Given the description of an element on the screen output the (x, y) to click on. 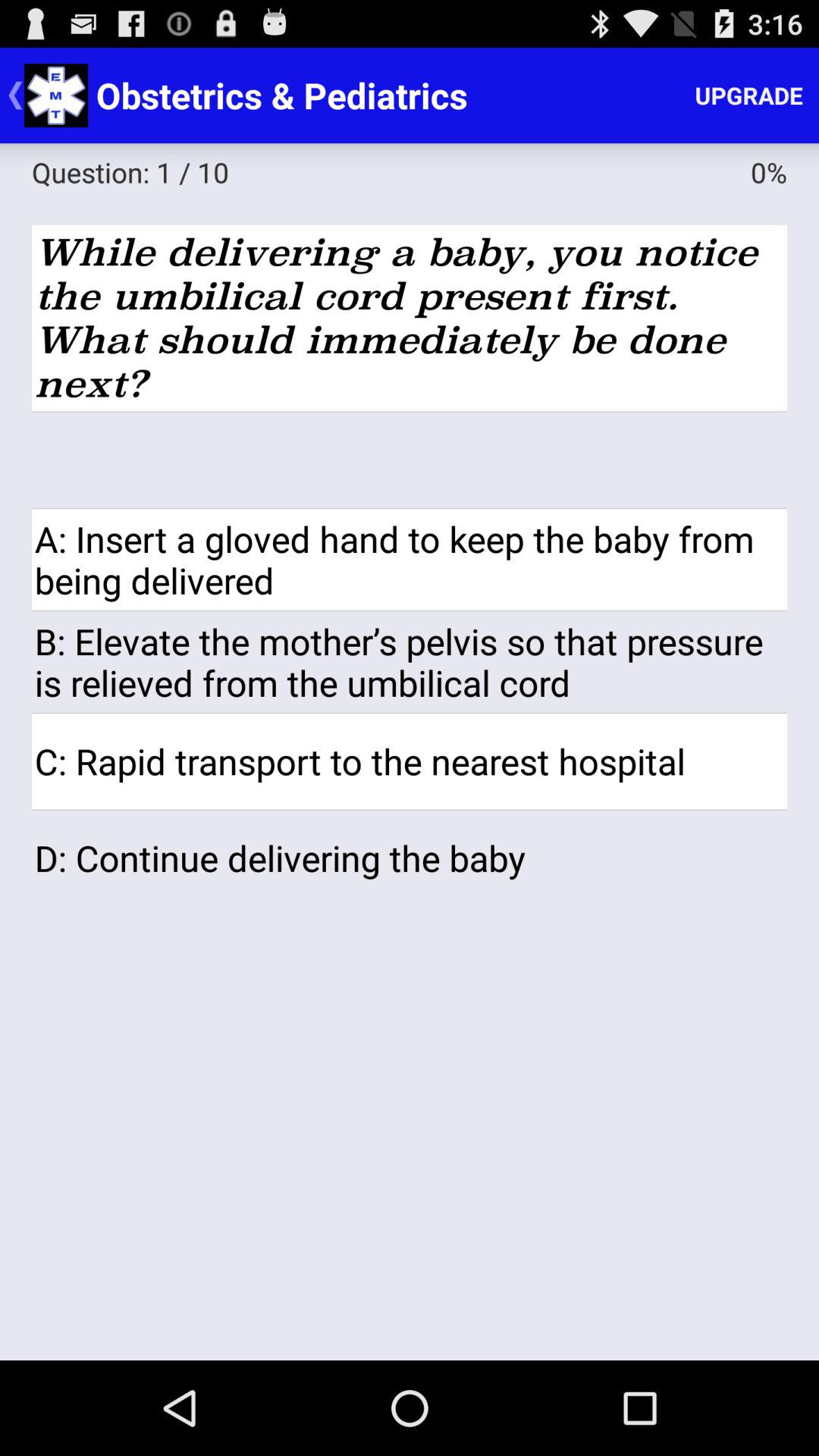
choose the app to the right of the obstetrics & pediatrics (749, 95)
